Given the description of an element on the screen output the (x, y) to click on. 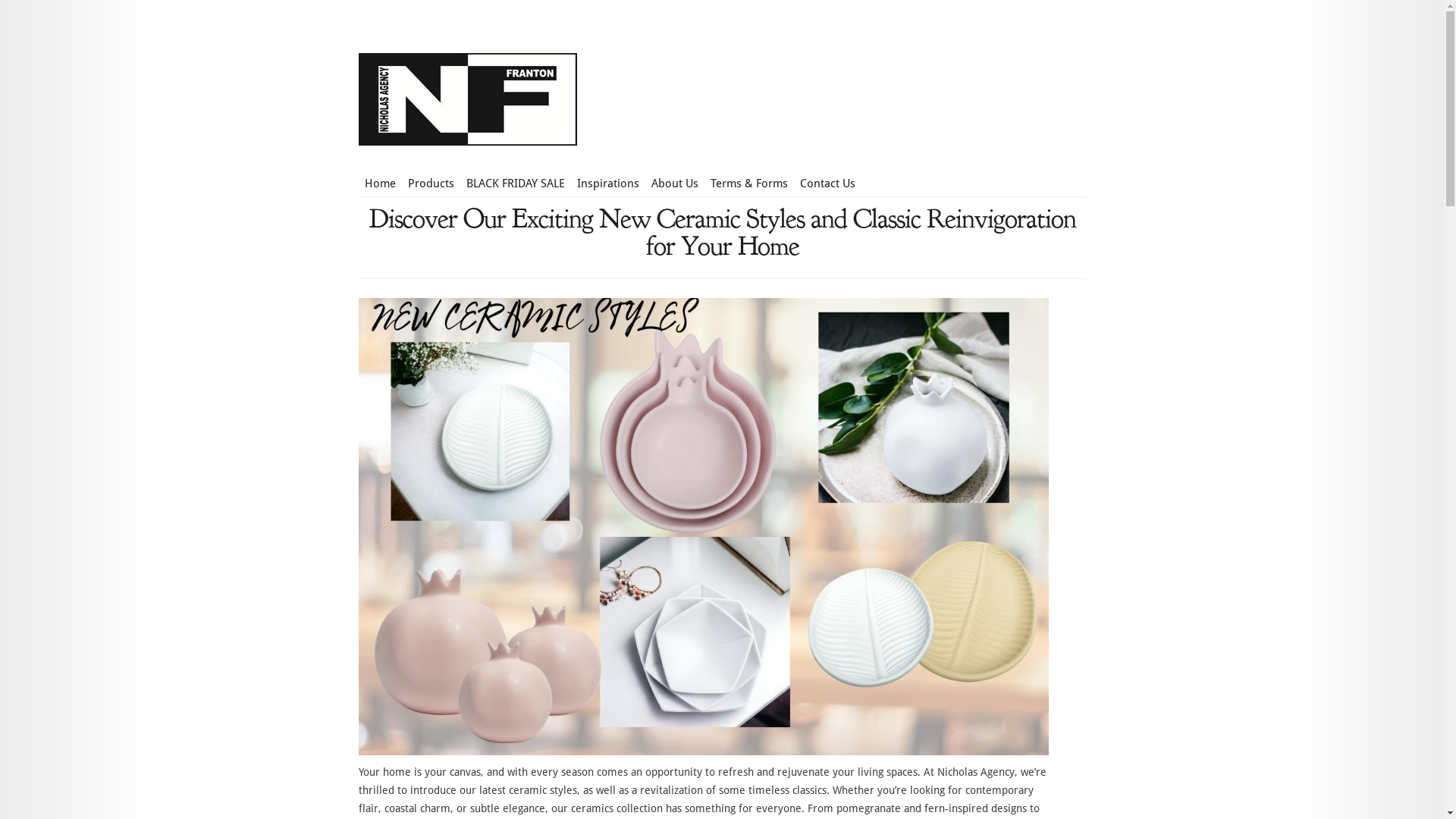
BLACK FRIDAY SALE Element type: text (514, 182)
Inspirations Element type: text (607, 182)
Products Element type: text (430, 182)
Terms & Forms Element type: text (748, 182)
Contact Us Element type: text (826, 182)
Home Element type: text (379, 182)
About Us Element type: text (673, 182)
